Given the description of an element on the screen output the (x, y) to click on. 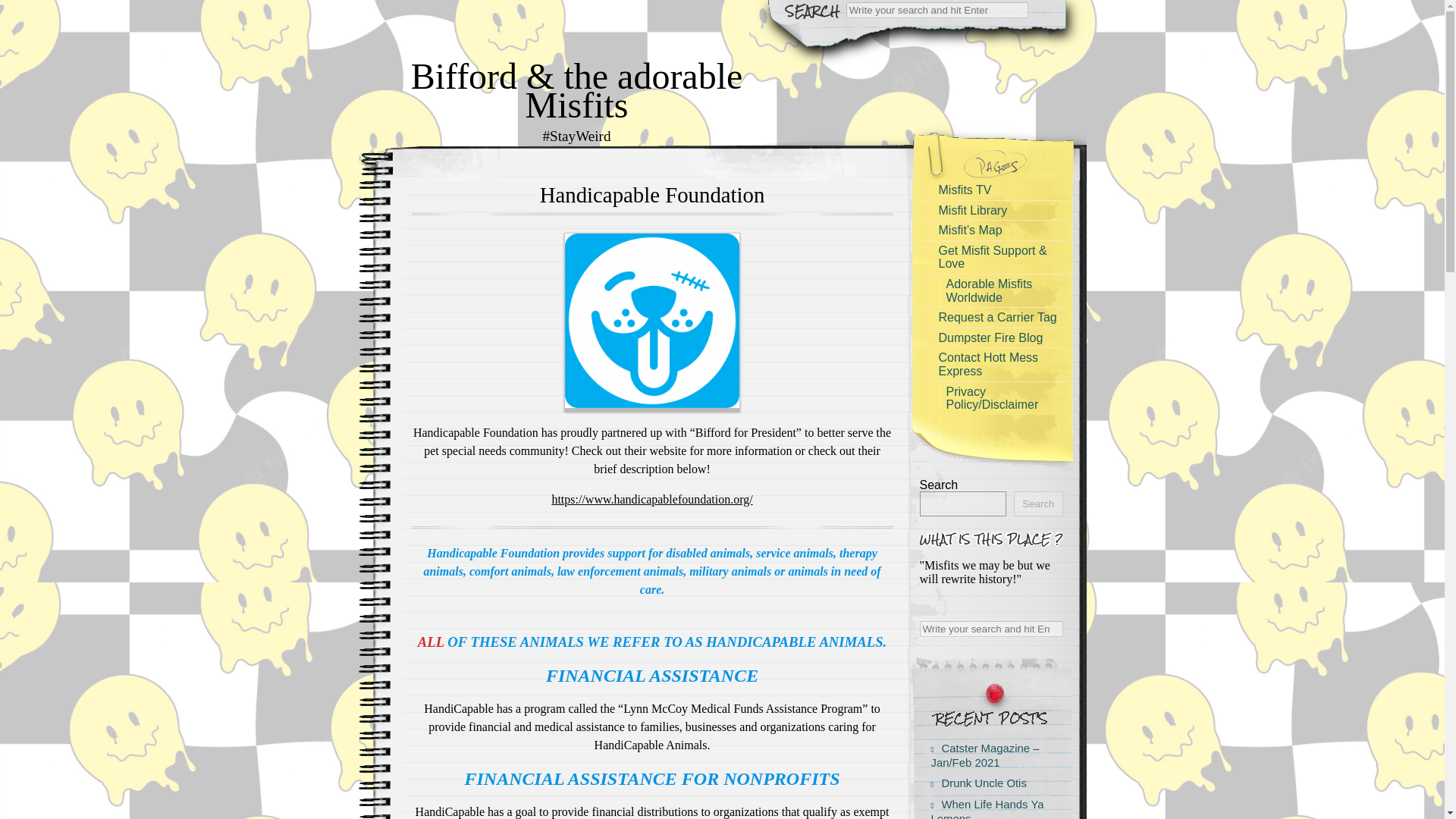
Contact Hott Mess Express (992, 363)
Misfit Library (992, 209)
Request a Carrier Tag (992, 317)
Search (936, 10)
Drunk Uncle Otis (985, 783)
Adorable Misfits Worldwide (1000, 290)
Misfits TV (992, 189)
Search (21, 7)
Search (1037, 503)
Search (990, 627)
Dumpster Fire Blog (992, 337)
